Given the description of an element on the screen output the (x, y) to click on. 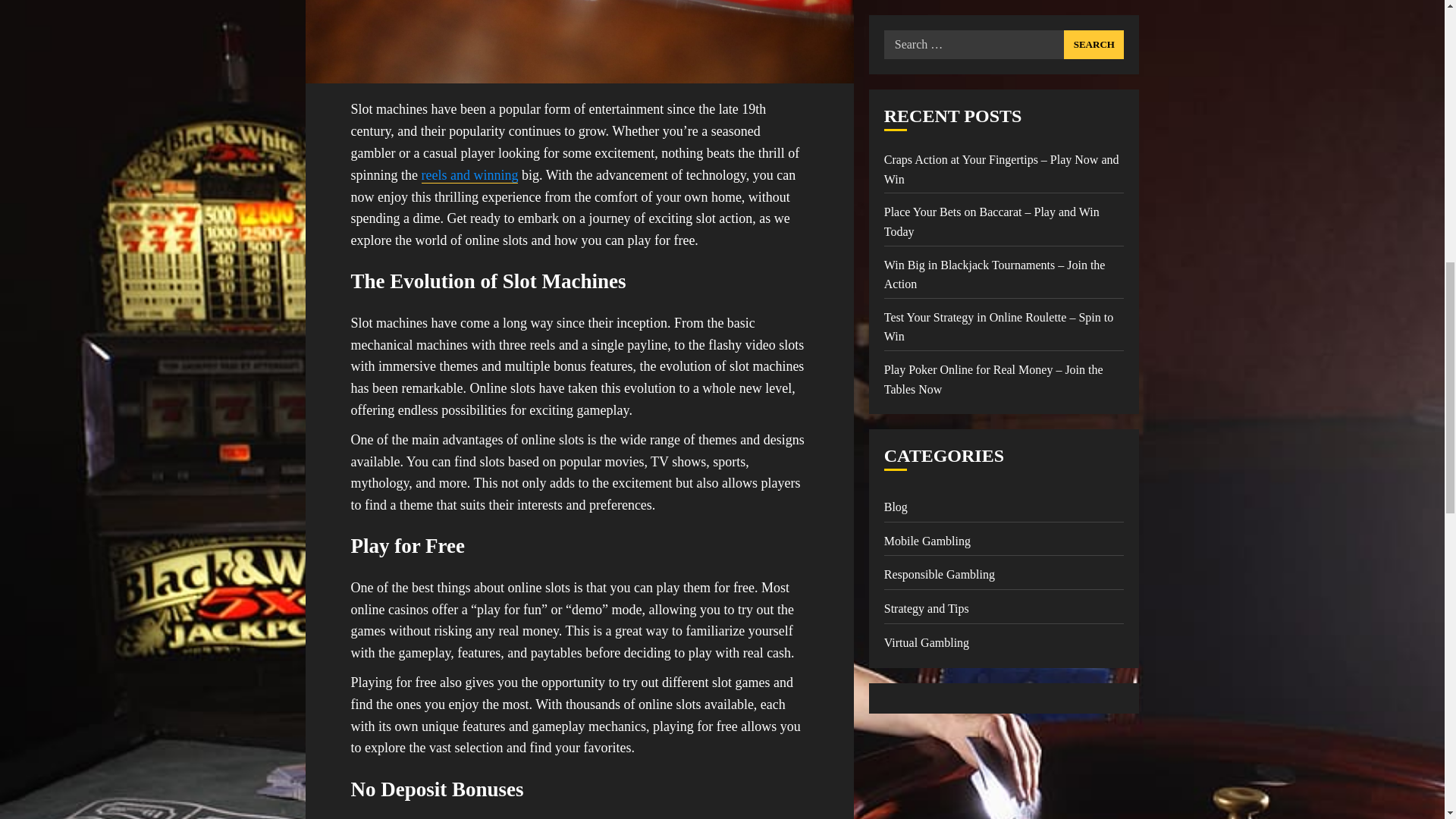
reels and winning (470, 175)
Strategy and Tips (926, 138)
Mobile Gambling (927, 71)
Blog (895, 37)
Responsible Gambling (938, 105)
Virtual Gambling (926, 172)
